Given the description of an element on the screen output the (x, y) to click on. 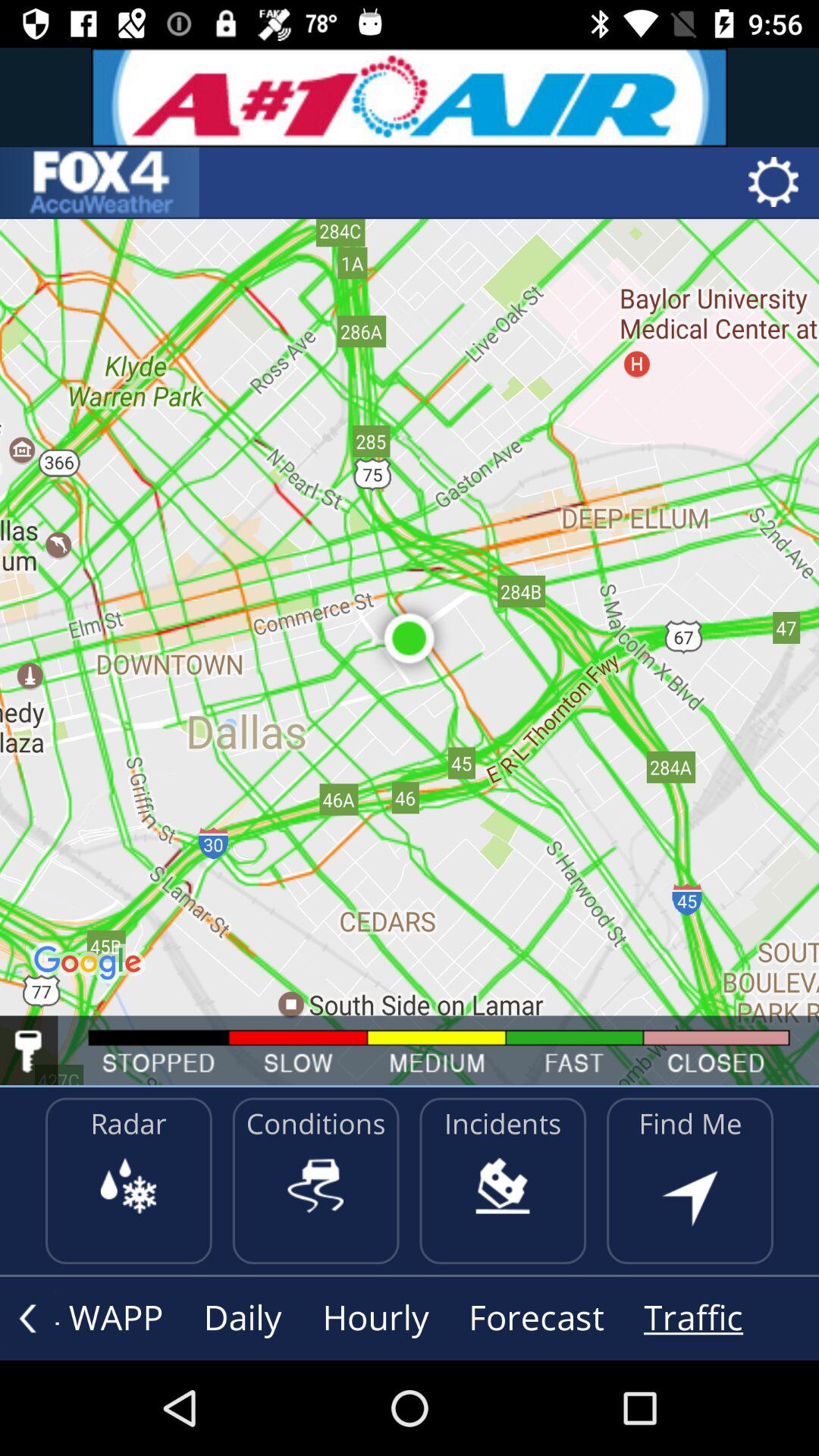
advertisement (409, 97)
